Given the description of an element on the screen output the (x, y) to click on. 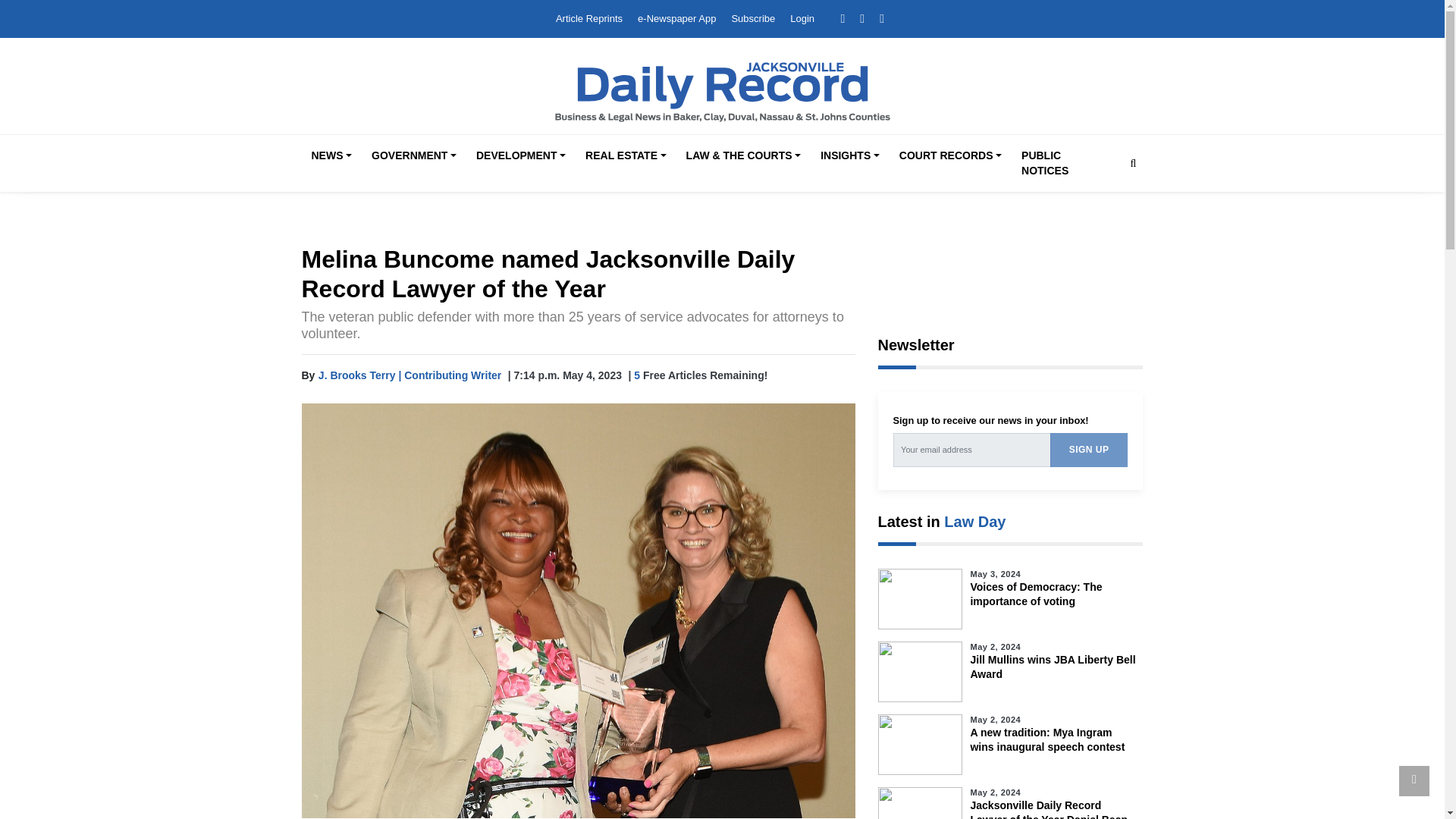
REAL ESTATE (625, 156)
NEWS (330, 156)
e-Newspaper App (676, 18)
INSIGHTS (849, 156)
COURT RECORDS (950, 156)
Subscribe (752, 18)
Login (801, 18)
GOVERNMENT (414, 156)
DEVELOPMENT (520, 156)
Article Reprints (589, 18)
